Given the description of an element on the screen output the (x, y) to click on. 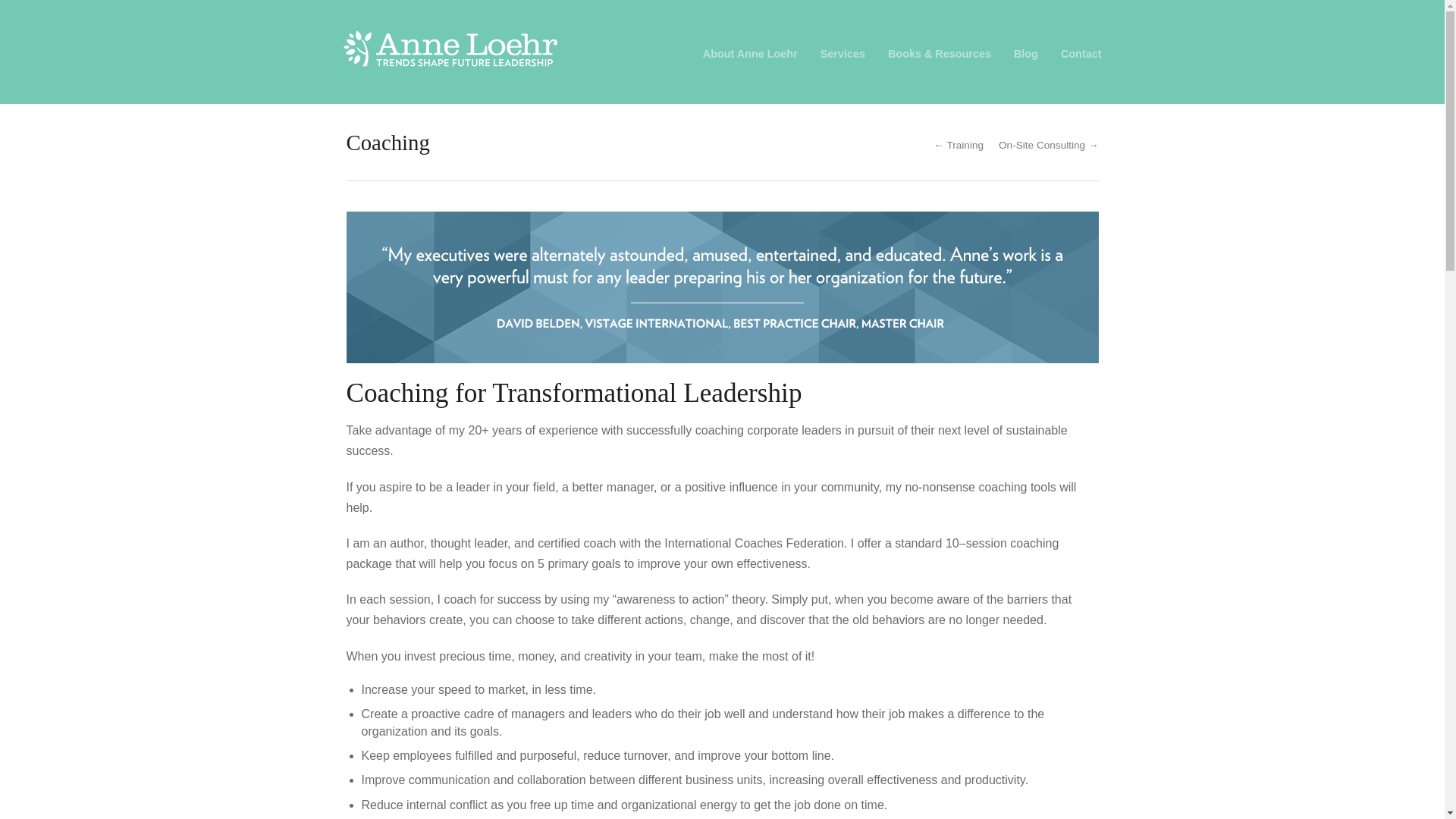
Blog (1025, 53)
Contact (1081, 53)
Services (842, 53)
About Anne Loehr (750, 53)
